Given the description of an element on the screen output the (x, y) to click on. 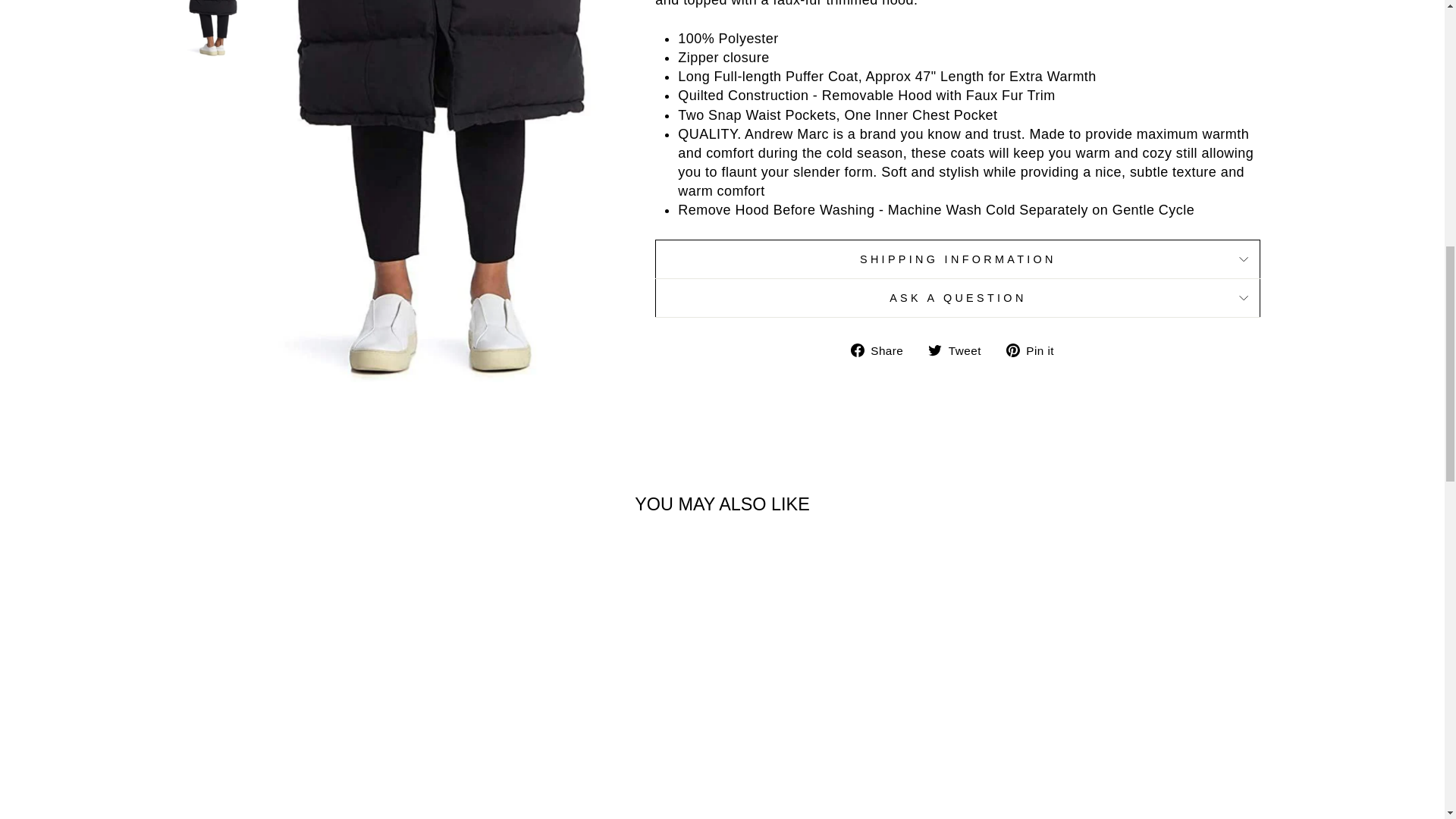
Share on Facebook (882, 349)
twitter (935, 350)
Tweet on Twitter (960, 349)
Pin on Pinterest (1035, 349)
